Given the description of an element on the screen output the (x, y) to click on. 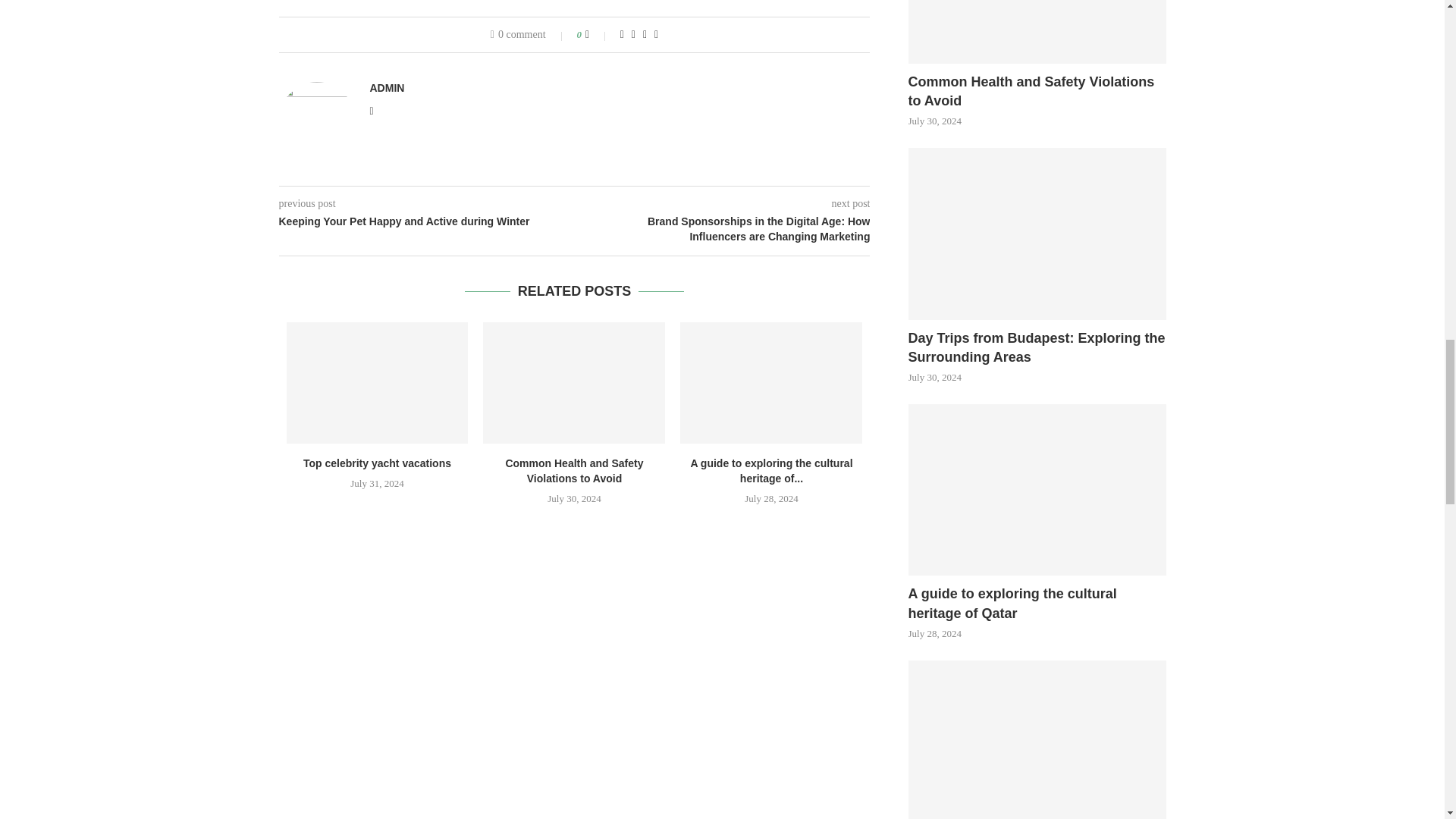
Author admin (386, 87)
A guide to exploring the cultural heritage of Qatar (770, 382)
Top celebrity yacht vacations (377, 382)
Common Health and Safety Violations to Avoid (574, 382)
Like (597, 34)
